Given the description of an element on the screen output the (x, y) to click on. 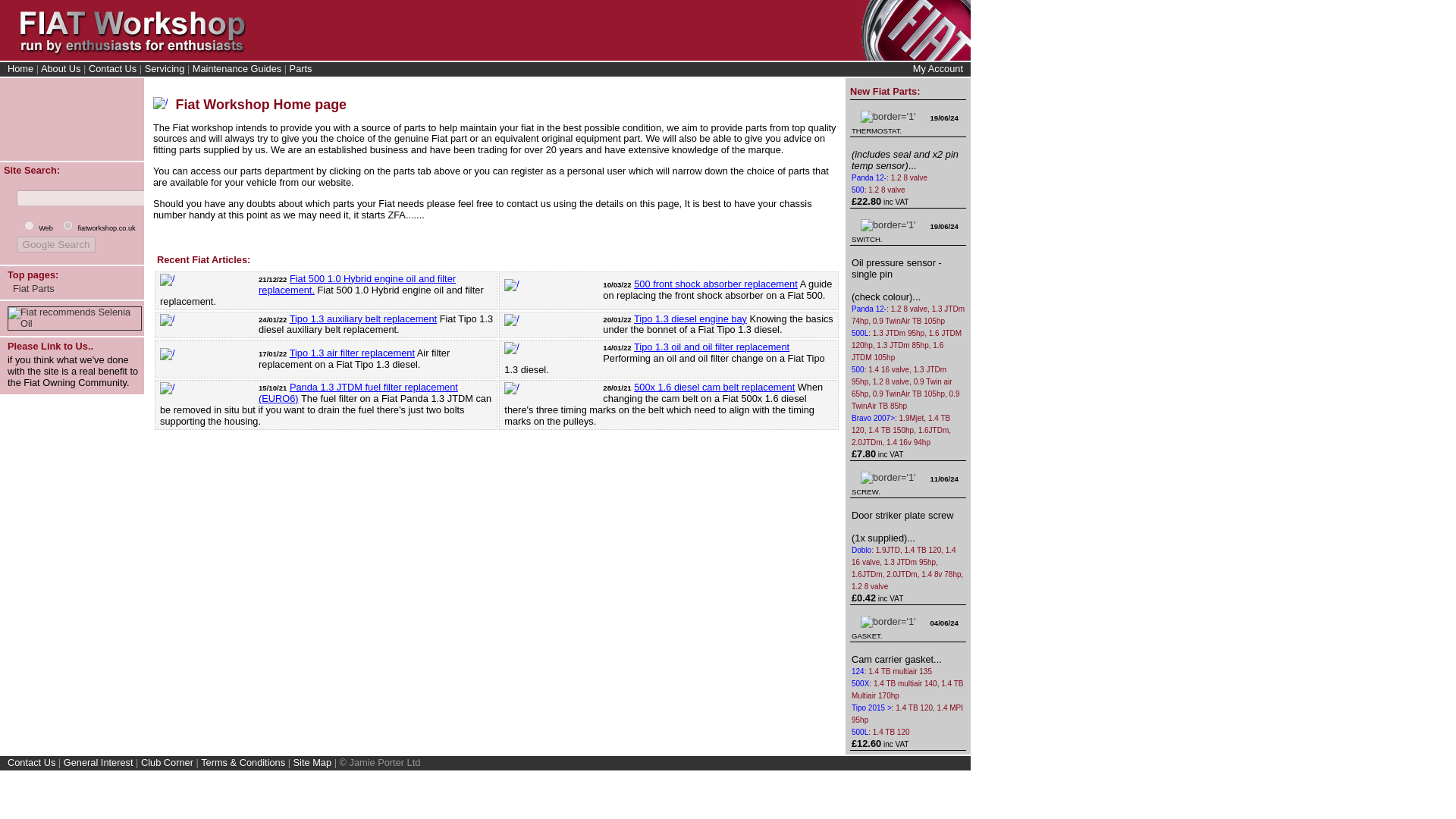
Tipo 1.3 auxiliary belt replacement (362, 318)
Google Search (56, 244)
About Us (60, 68)
124 (857, 671)
Tipo 1.3 air filter replacement (351, 352)
Panda 12- (868, 308)
Google Search (56, 244)
500X (860, 683)
Home (20, 68)
Panda 12- (868, 177)
fiatworkshop.co.uk (67, 225)
Fiat 500 1.0 Hybrid engine oil and filter replacement. (357, 283)
Contact Us (112, 68)
Servicing (164, 68)
Tipo 1.3 oil and oil filter replacement (711, 346)
